Given the description of an element on the screen output the (x, y) to click on. 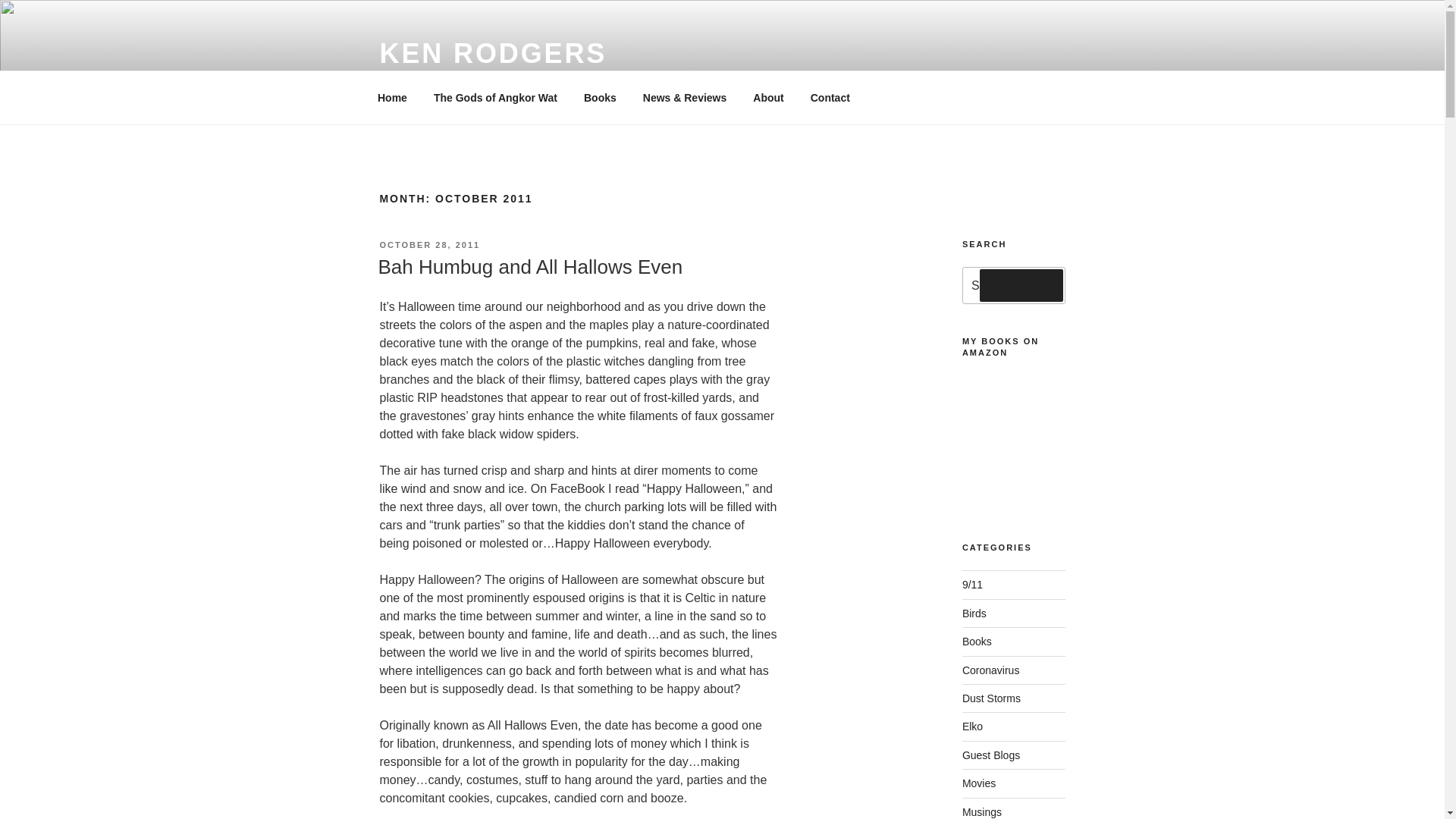
Dust Storms (991, 698)
Musings (981, 811)
Guest Blogs (991, 755)
Birds (974, 613)
Movies (978, 783)
About (767, 97)
Books (599, 97)
Home (392, 97)
KEN RODGERS (492, 52)
Search (1020, 285)
